Given the description of an element on the screen output the (x, y) to click on. 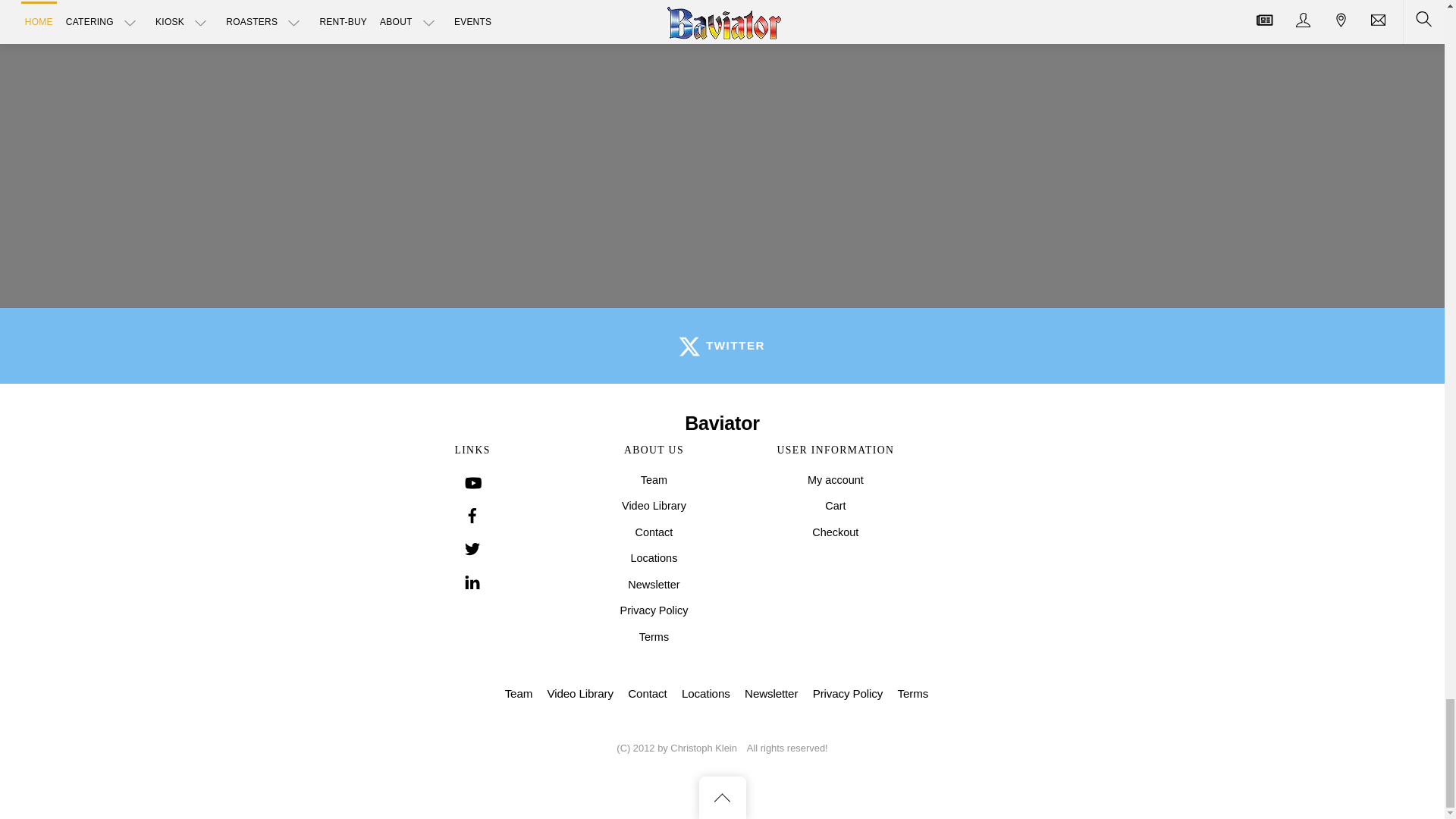
Baviator (722, 423)
